Given the description of an element on the screen output the (x, y) to click on. 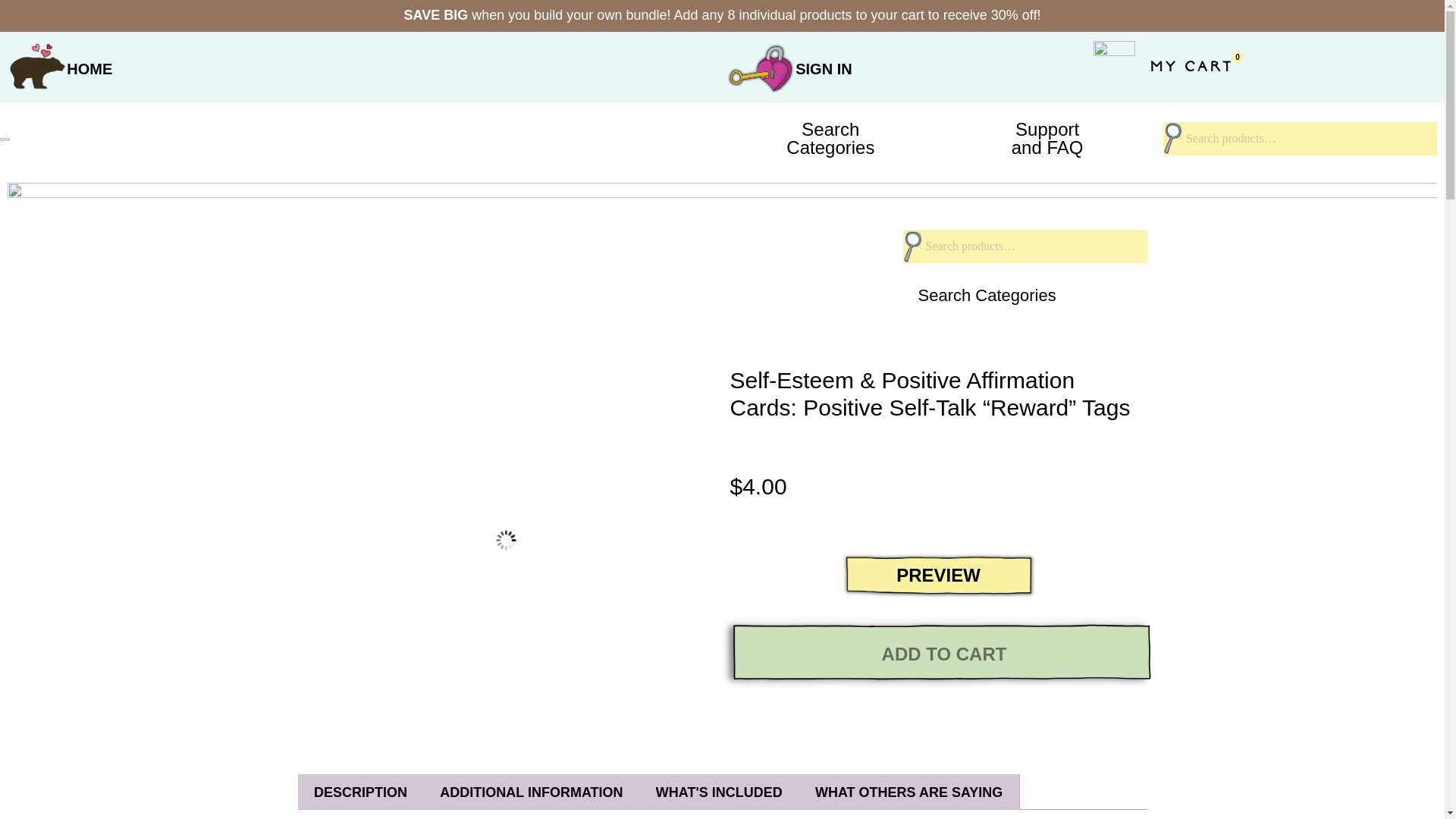
SIGN IN (822, 68)
HOME (830, 138)
0 (89, 68)
